Given the description of an element on the screen output the (x, y) to click on. 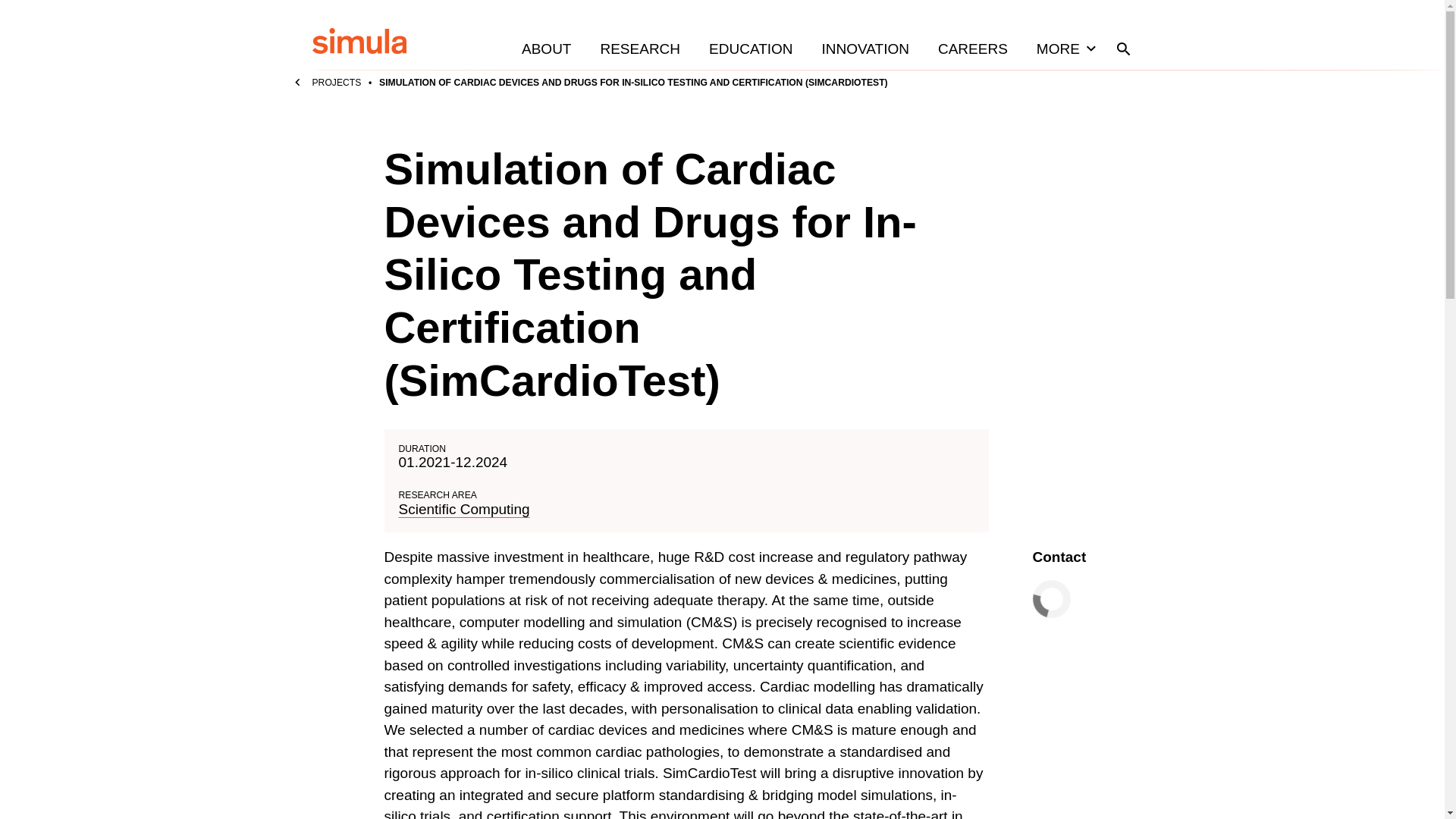
Home (359, 42)
EDUCATION (750, 48)
ABOUT (545, 48)
MORE (1068, 48)
RESEARCH (639, 48)
CAREERS (972, 48)
INNOVATION (865, 48)
